Given the description of an element on the screen output the (x, y) to click on. 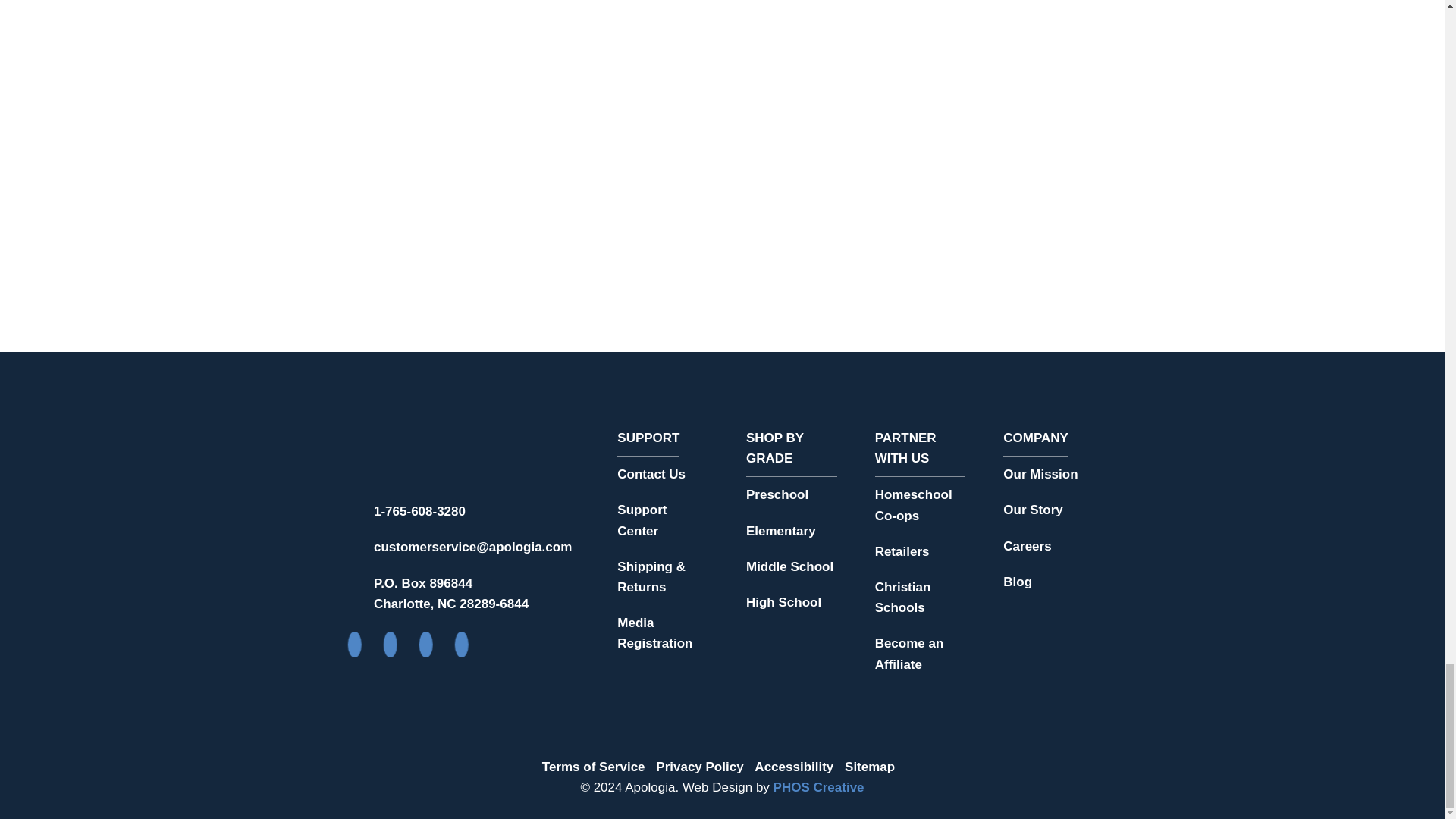
Facebook link (356, 650)
Pinterest Link (464, 650)
Instagram link (392, 650)
Youtube link (427, 650)
